Given the description of an element on the screen output the (x, y) to click on. 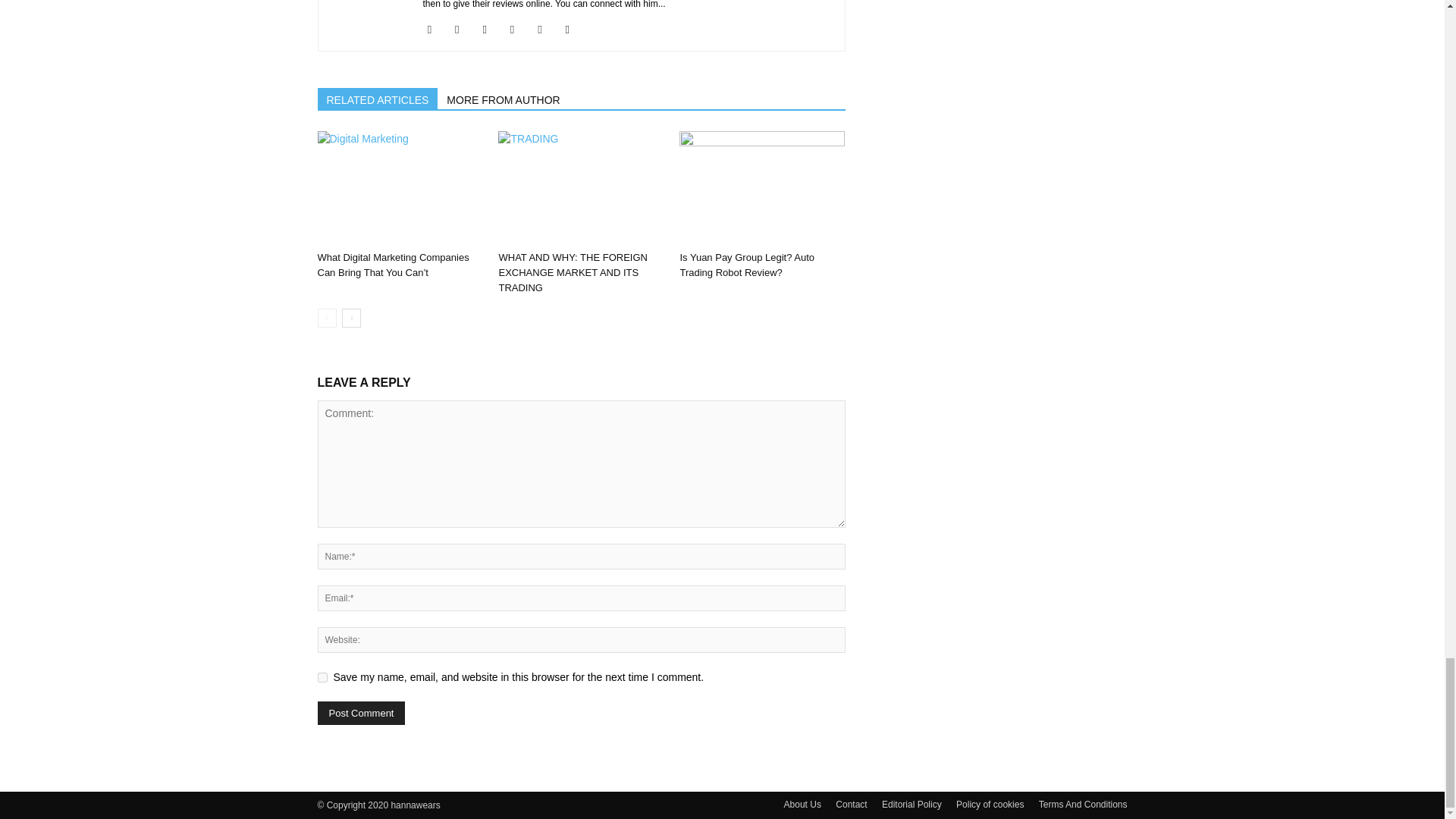
Post Comment (360, 712)
Twitter (572, 29)
Mail (518, 29)
Facebook (435, 29)
WHAT AND WHY: THE FOREIGN EXCHANGE MARKET AND ITS TRADING (580, 187)
Instagram (462, 29)
Reddit (544, 29)
Linkedin (489, 29)
yes (321, 677)
